Given the description of an element on the screen output the (x, y) to click on. 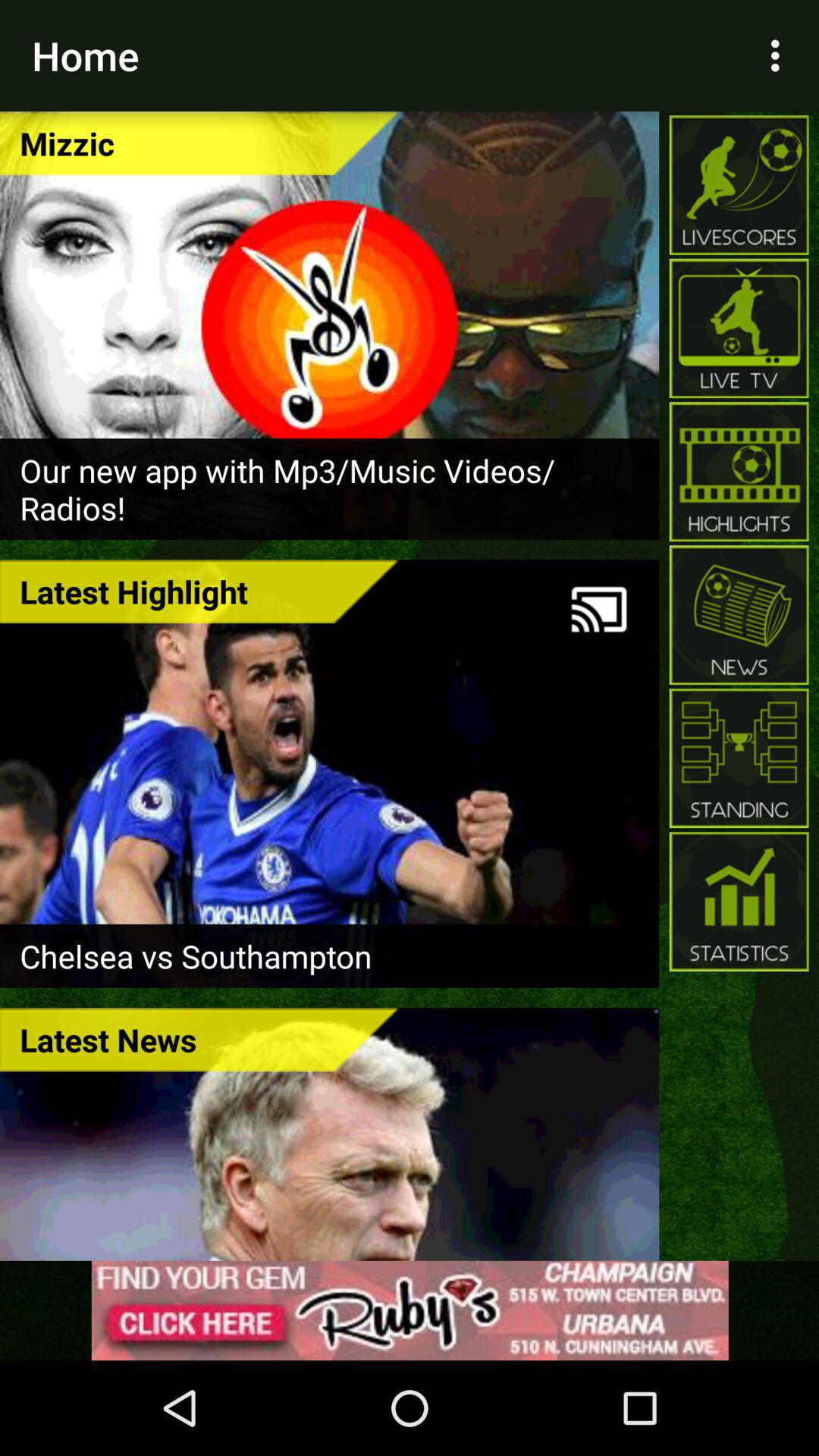
cast to other device (599, 609)
